Given the description of an element on the screen output the (x, y) to click on. 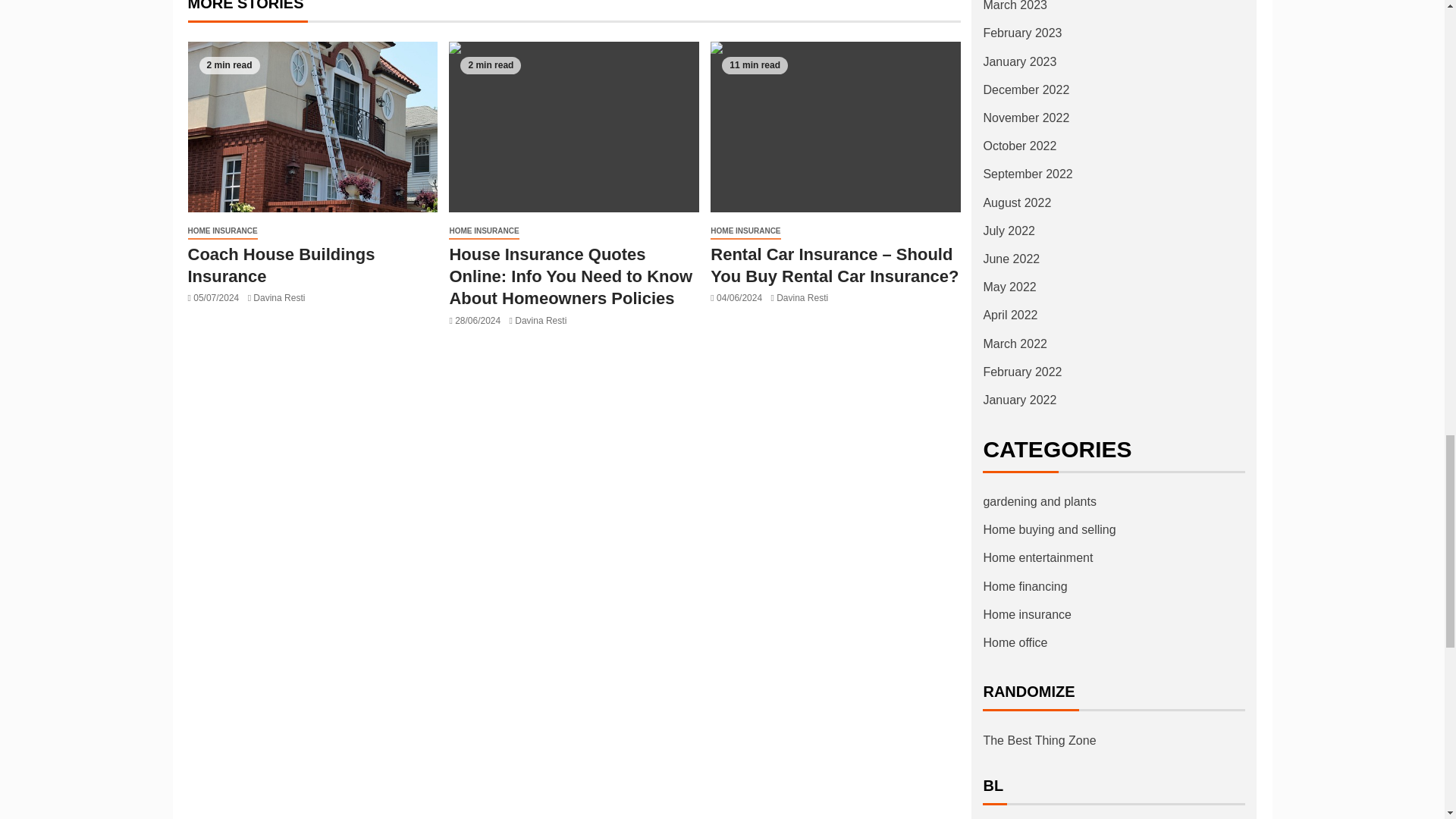
Coach House Buildings Insurance (312, 126)
HOME INSURANCE (483, 231)
HOME INSURANCE (222, 231)
Coach House Buildings Insurance (281, 264)
Davina Resti (278, 297)
California Is Cracking Down On Uninsured Motorists (573, 126)
